Given the description of an element on the screen output the (x, y) to click on. 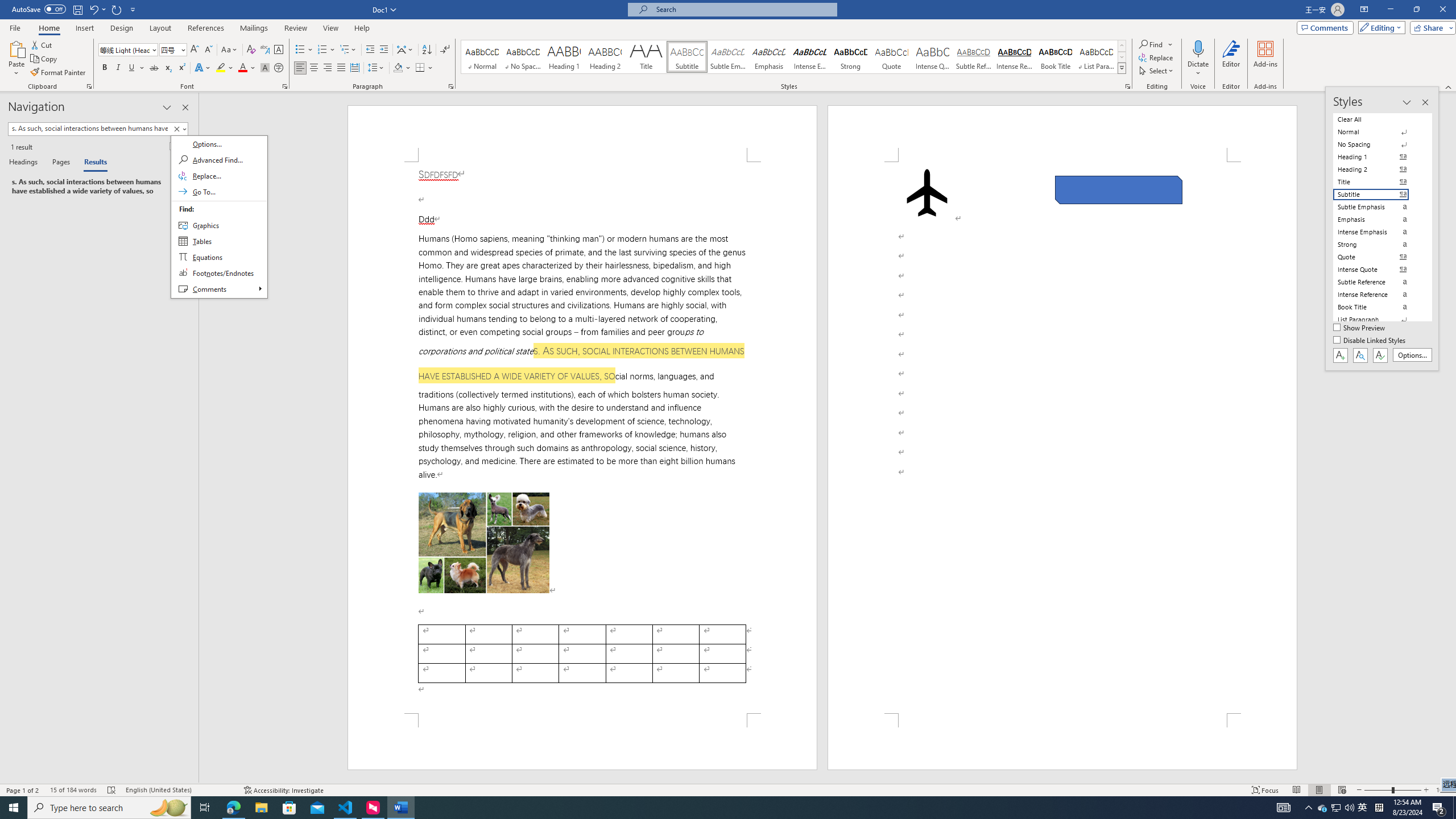
Intense Quote (932, 56)
Line and Paragraph Spacing (376, 67)
Align Right (327, 67)
Class: NetUIScrollBar (1450, 437)
Class: MsoCommandBar (728, 45)
Subtle Reference (973, 56)
Results (91, 162)
Character Shading (264, 67)
